Given the description of an element on the screen output the (x, y) to click on. 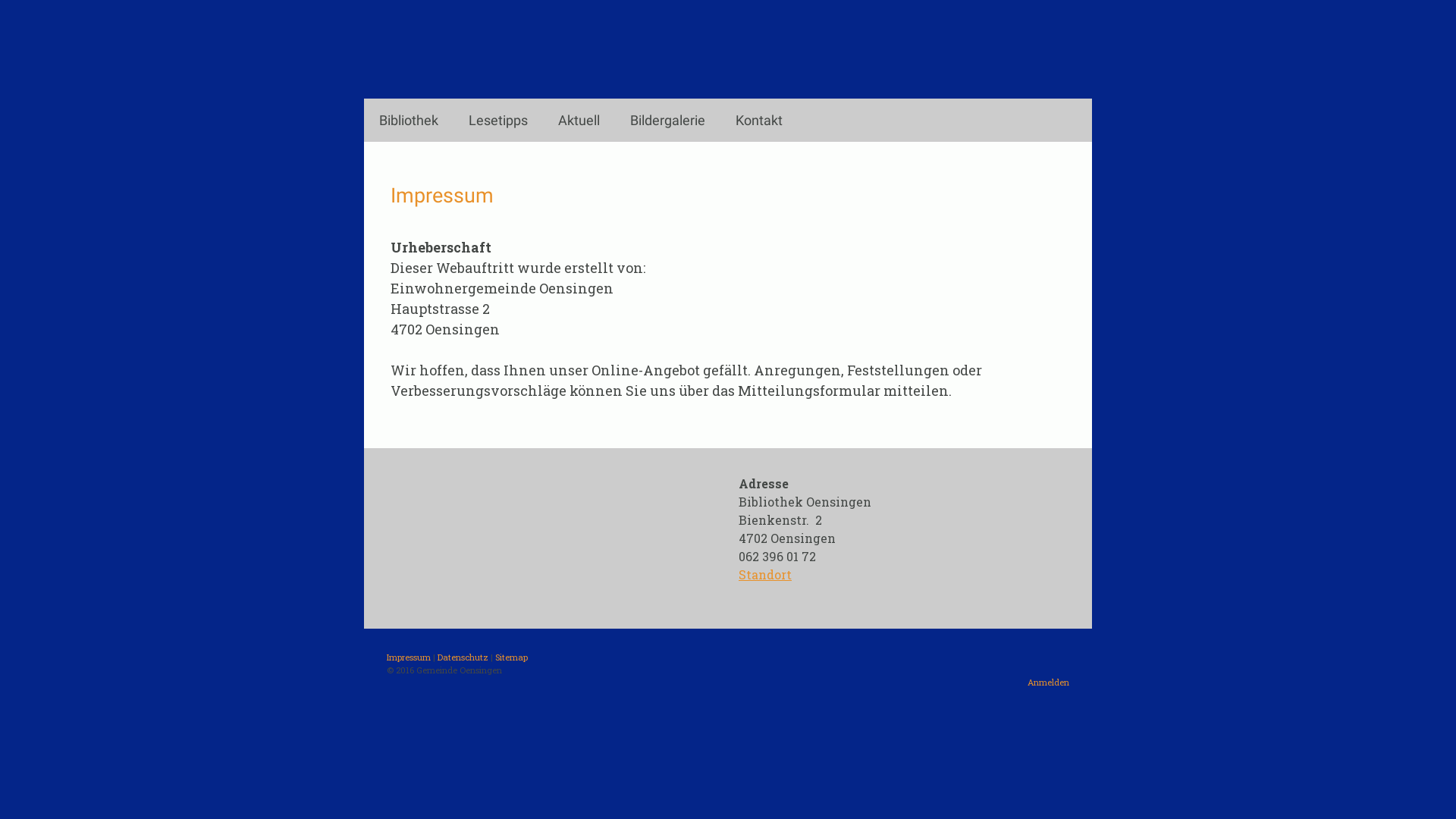
Impressum Element type: text (408, 656)
Bibliothek Element type: text (408, 119)
Datenschutz Element type: text (462, 656)
Anmelden Element type: text (1048, 681)
Sitemap Element type: text (511, 656)
Lesetipps Element type: text (497, 119)
Bildergalerie Element type: text (667, 119)
Kontakt Element type: text (758, 119)
Aktuell Element type: text (578, 119)
Standort Element type: text (764, 574)
